Given the description of an element on the screen output the (x, y) to click on. 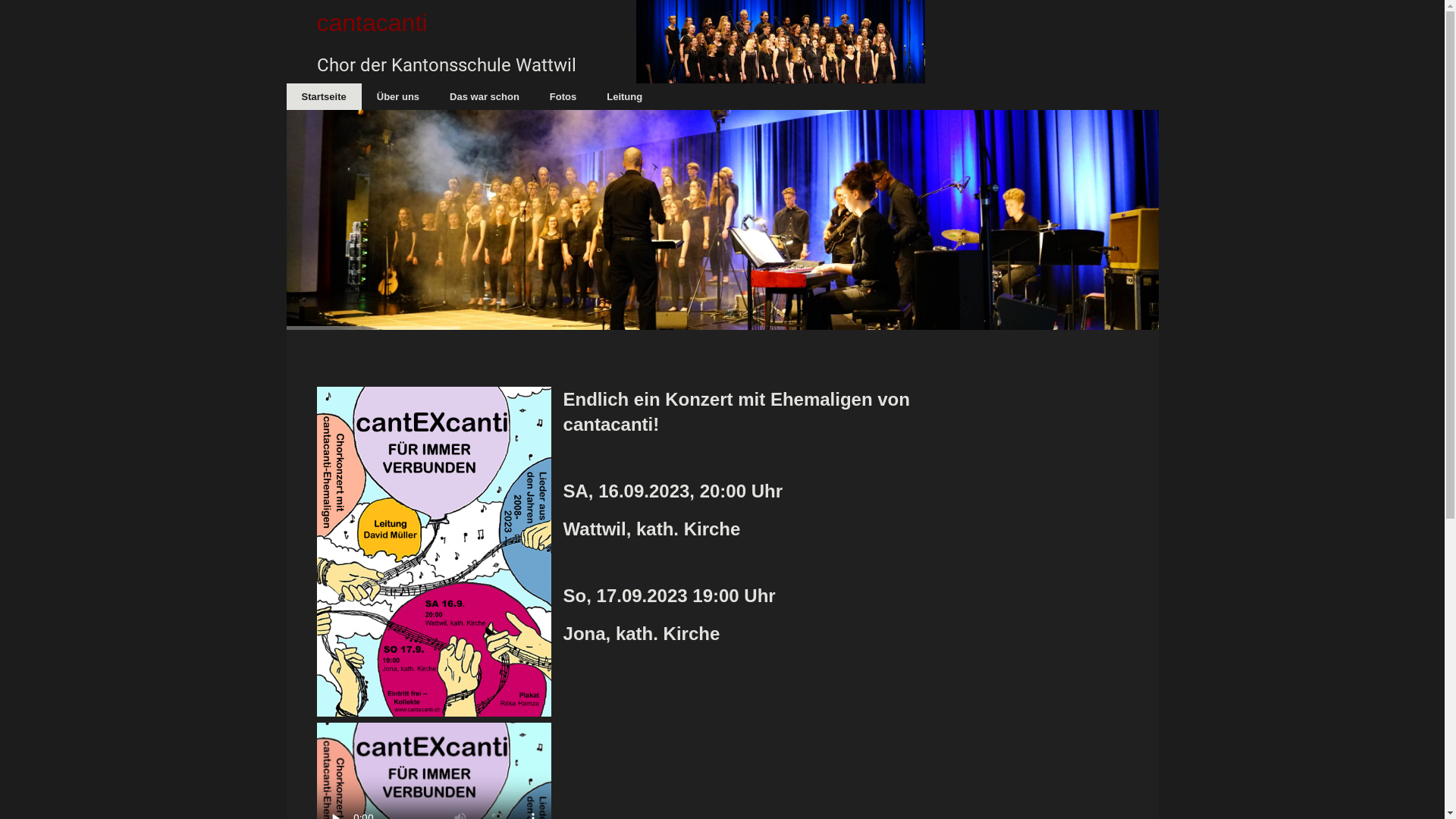
Das war schon Element type: text (484, 96)
Startseite Element type: text (323, 96)
Fotos Element type: text (562, 96)
Leitung Element type: text (624, 96)
